Given the description of an element on the screen output the (x, y) to click on. 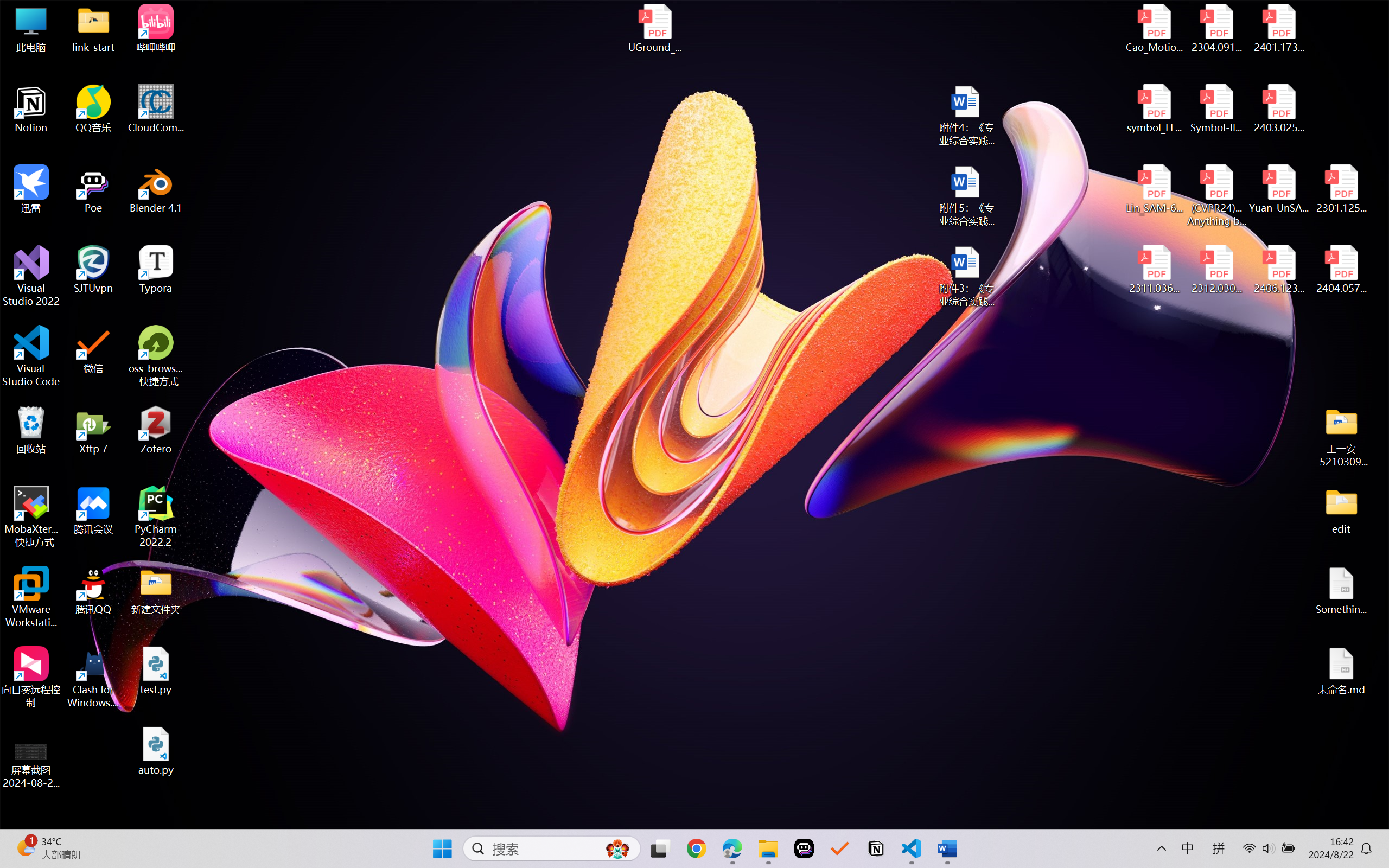
2304.09121v3.pdf (1216, 28)
Blender 4.1 (156, 189)
2312.03032v2.pdf (1216, 269)
SJTUvpn (93, 269)
Google Chrome (696, 848)
Xftp 7 (93, 430)
